Given the description of an element on the screen output the (x, y) to click on. 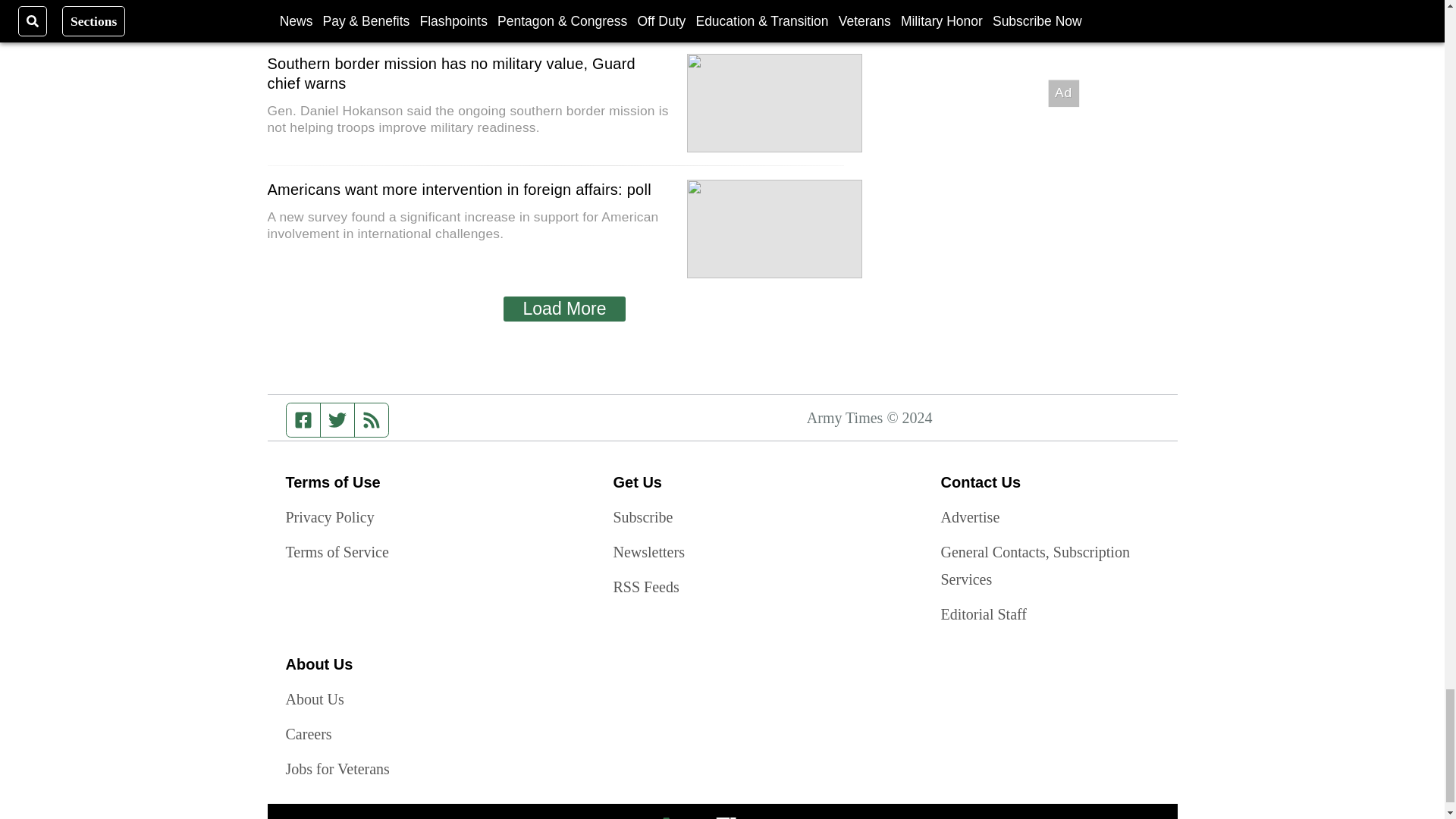
Twitter feed (336, 419)
RSS feed (371, 419)
Facebook page (303, 419)
